Given the description of an element on the screen output the (x, y) to click on. 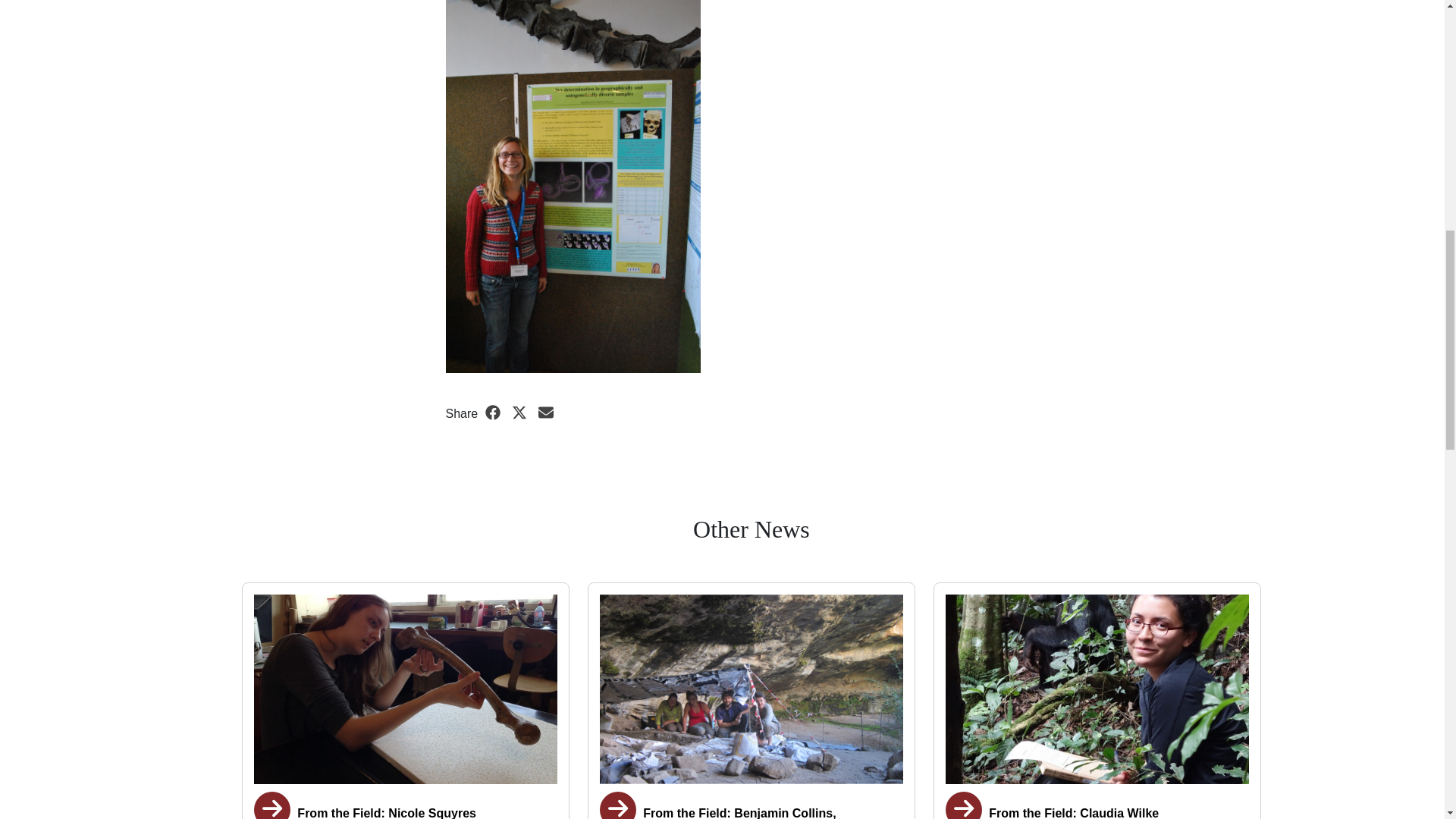
Send email (545, 412)
Share on Facebook (493, 412)
Tweet (521, 412)
